Given the description of an element on the screen output the (x, y) to click on. 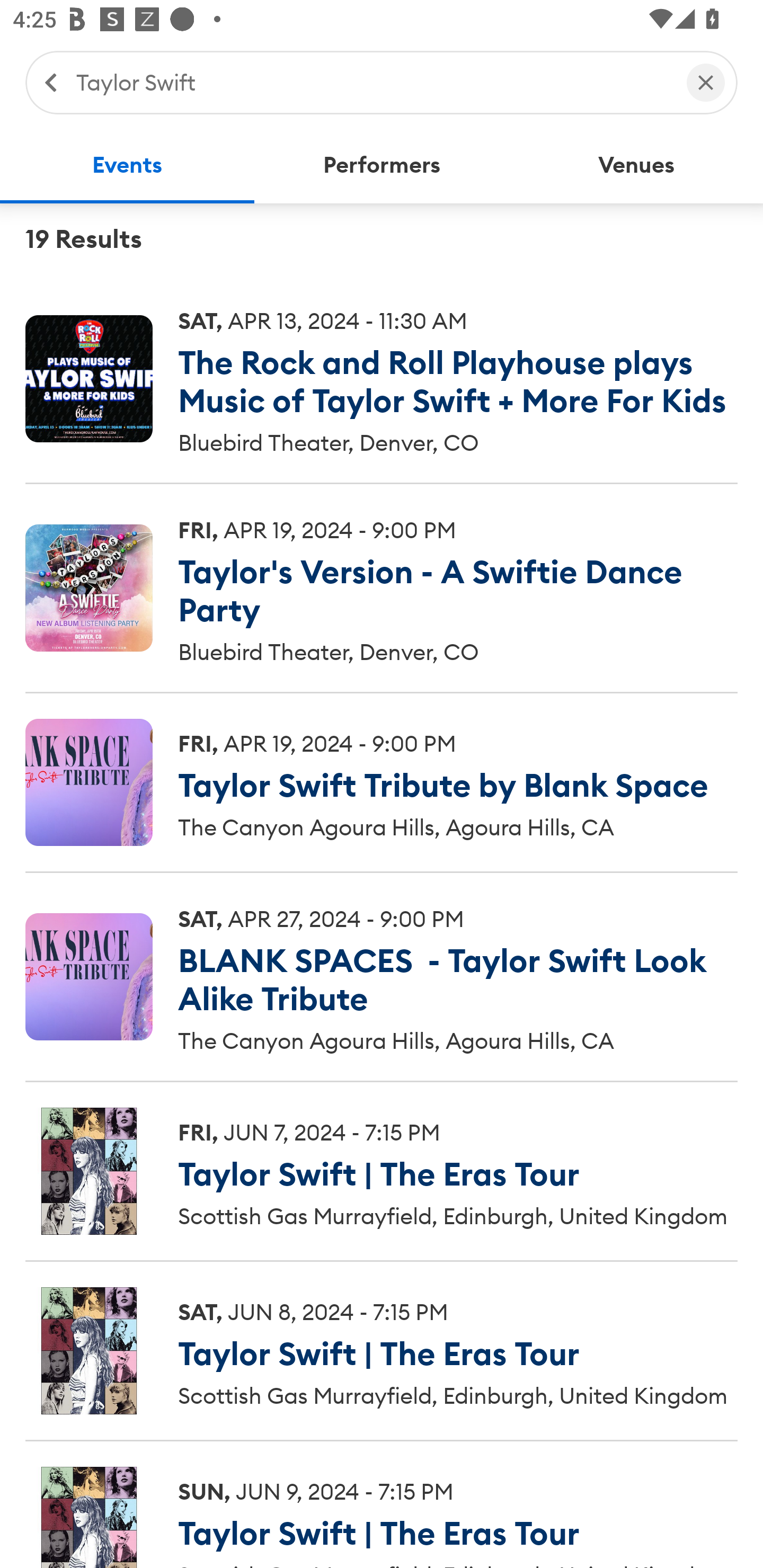
Taylor Swift (371, 81)
Clear Search (705, 81)
Performers (381, 165)
Venues (635, 165)
